Given the description of an element on the screen output the (x, y) to click on. 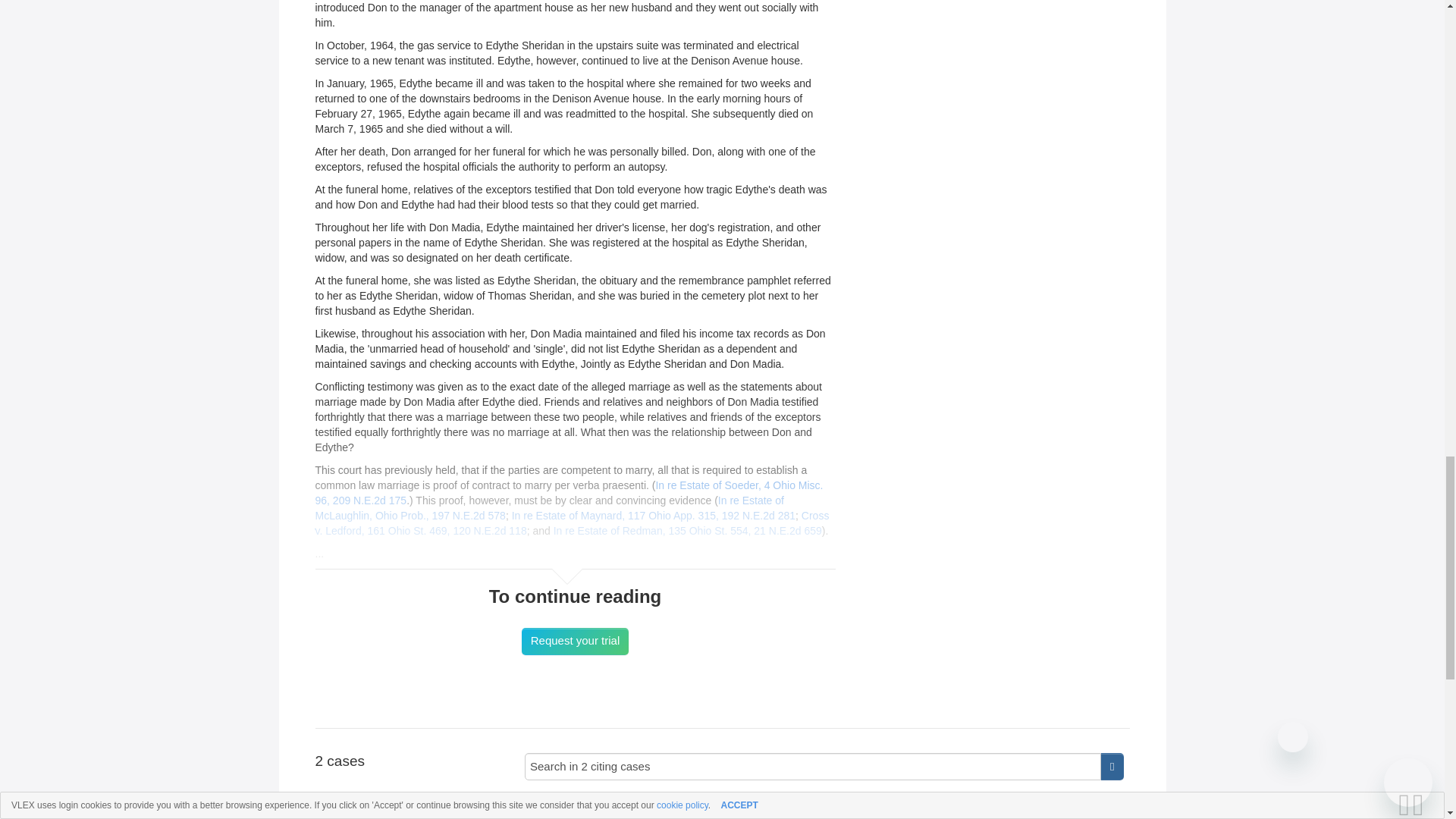
Cross v. Ledford, 161 Ohio St. 469, 120 N.E.2d 118 (572, 523)
In re Estate of Redman, 135 Ohio St. 554, 21 N.E.2d 659 (687, 530)
Bridgman v. Stout (824, 802)
In re Estate of McLaughlin, Ohio Prob., 197 N.E.2d 578 (549, 507)
United States (551, 816)
Bridgman v. Stout (824, 802)
June 10, 1971 (738, 816)
Oregon Court of Appeals (644, 816)
In re Estate of Soeder, 4 Ohio Misc. 96, 209 N.E.2d 175 (569, 492)
In re Estate of Maynard, 117 Ohio App. 315, 192 N.E.2d 281 (653, 515)
